Given the description of an element on the screen output the (x, y) to click on. 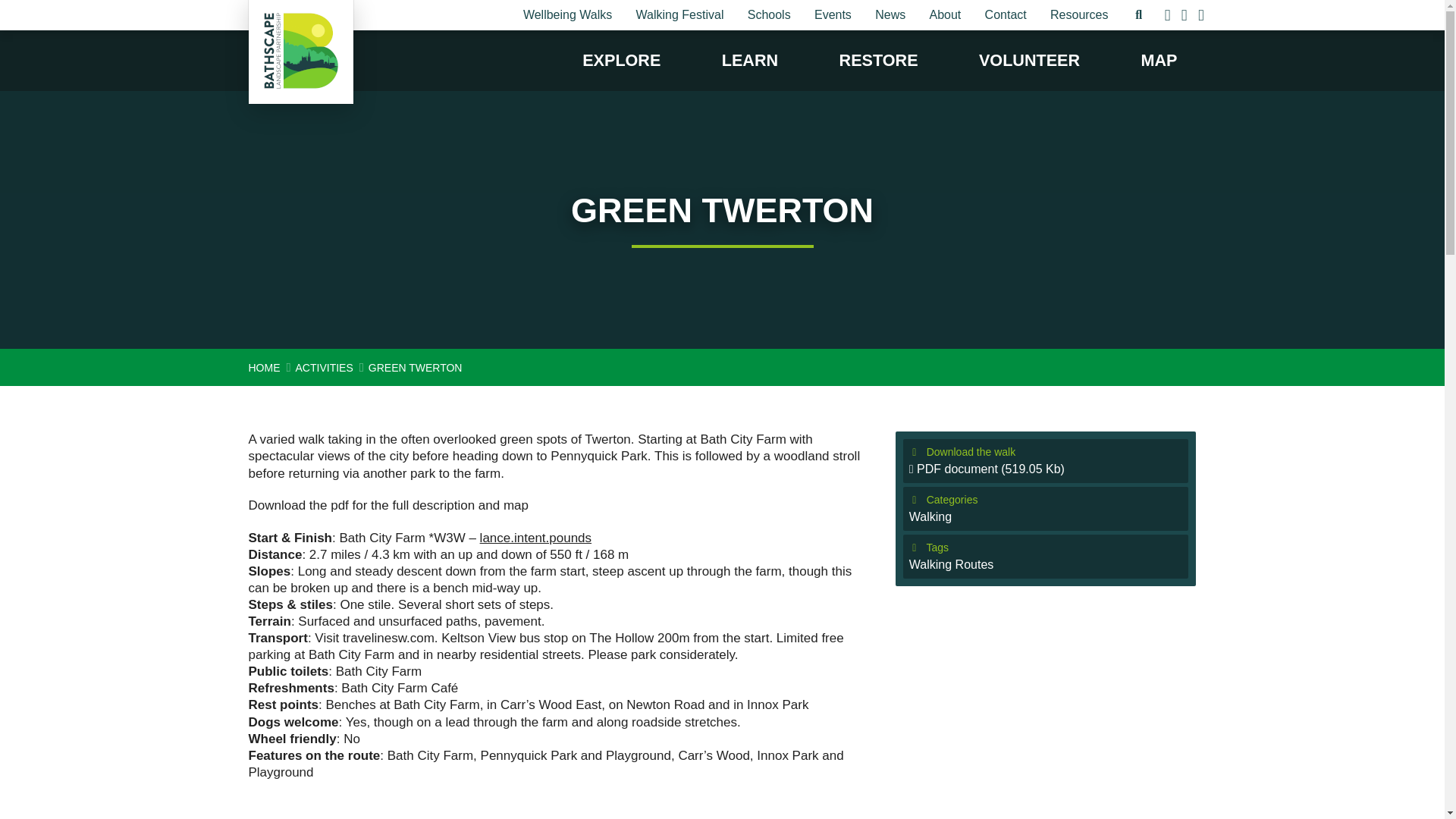
RESTORE (879, 60)
HOME (264, 367)
Walking Festival (679, 15)
Walking Routes (950, 563)
EXPLORE (620, 60)
Go to Home. (264, 367)
LEARN (749, 60)
Wellbeing Walks (567, 15)
lance.intent.pounds (535, 537)
Go to Activities. (324, 367)
